Given the description of an element on the screen output the (x, y) to click on. 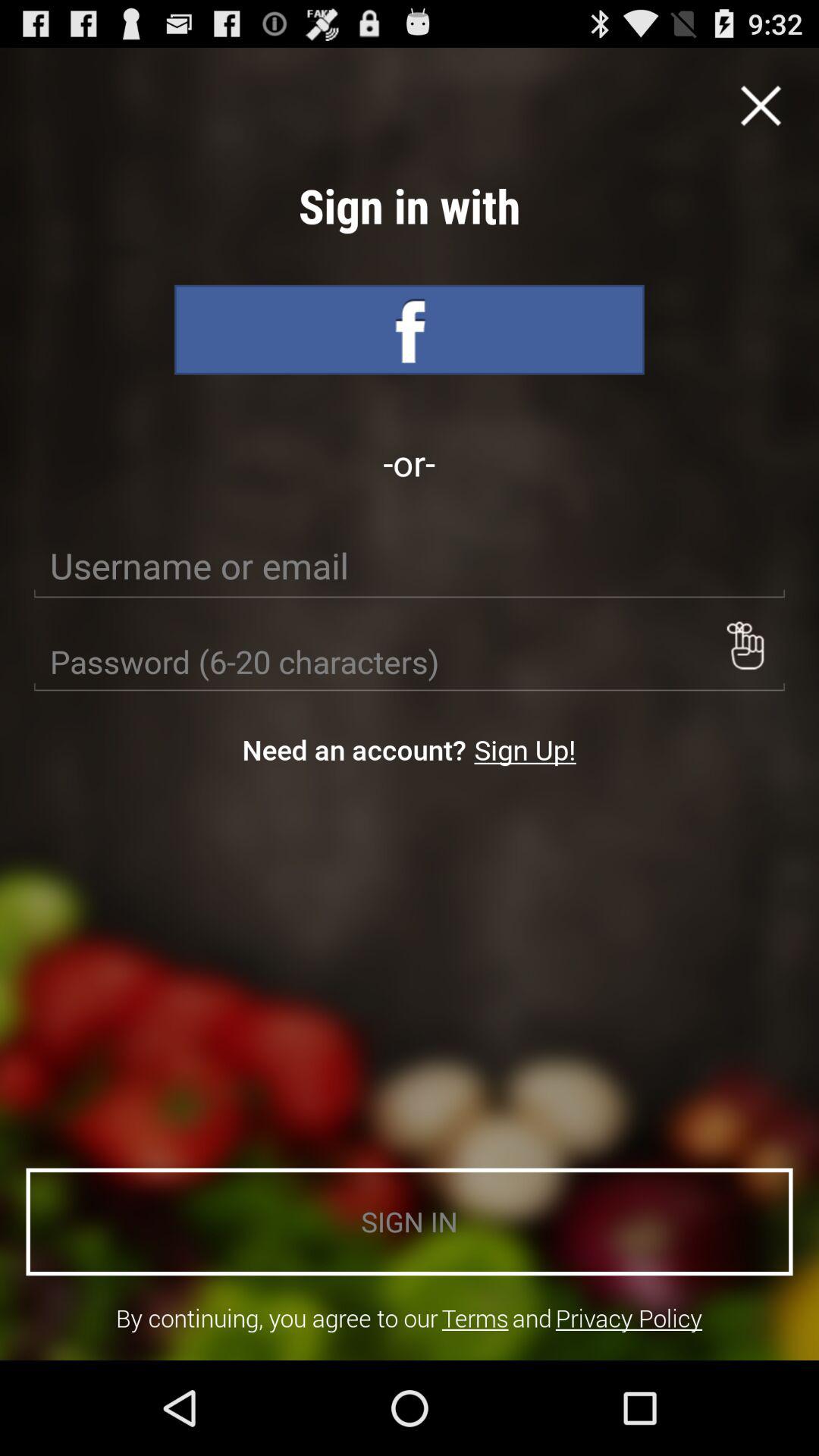
password (744, 645)
